Given the description of an element on the screen output the (x, y) to click on. 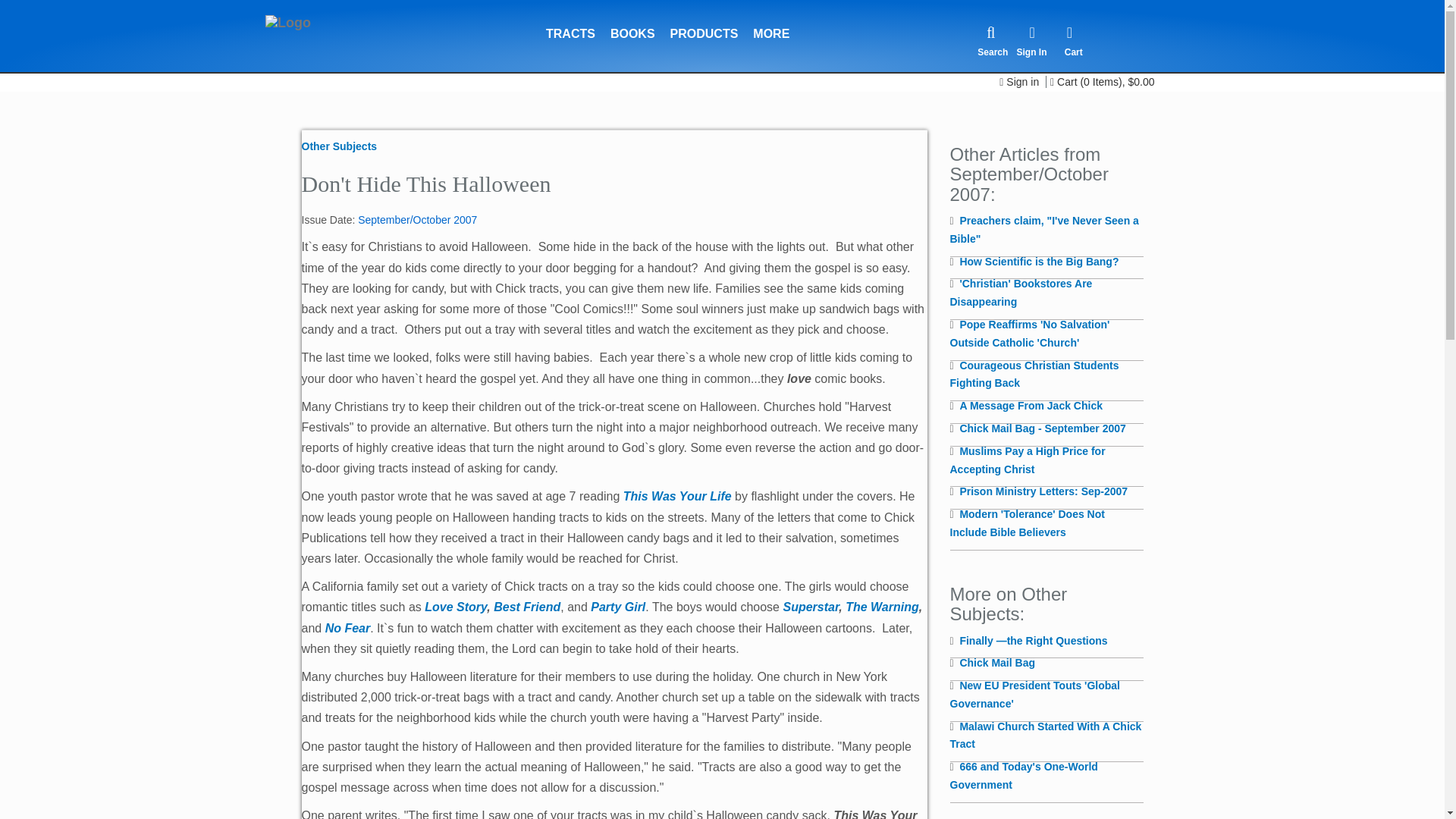
BOOKS (632, 24)
TRACTS (570, 24)
